Given the description of an element on the screen output the (x, y) to click on. 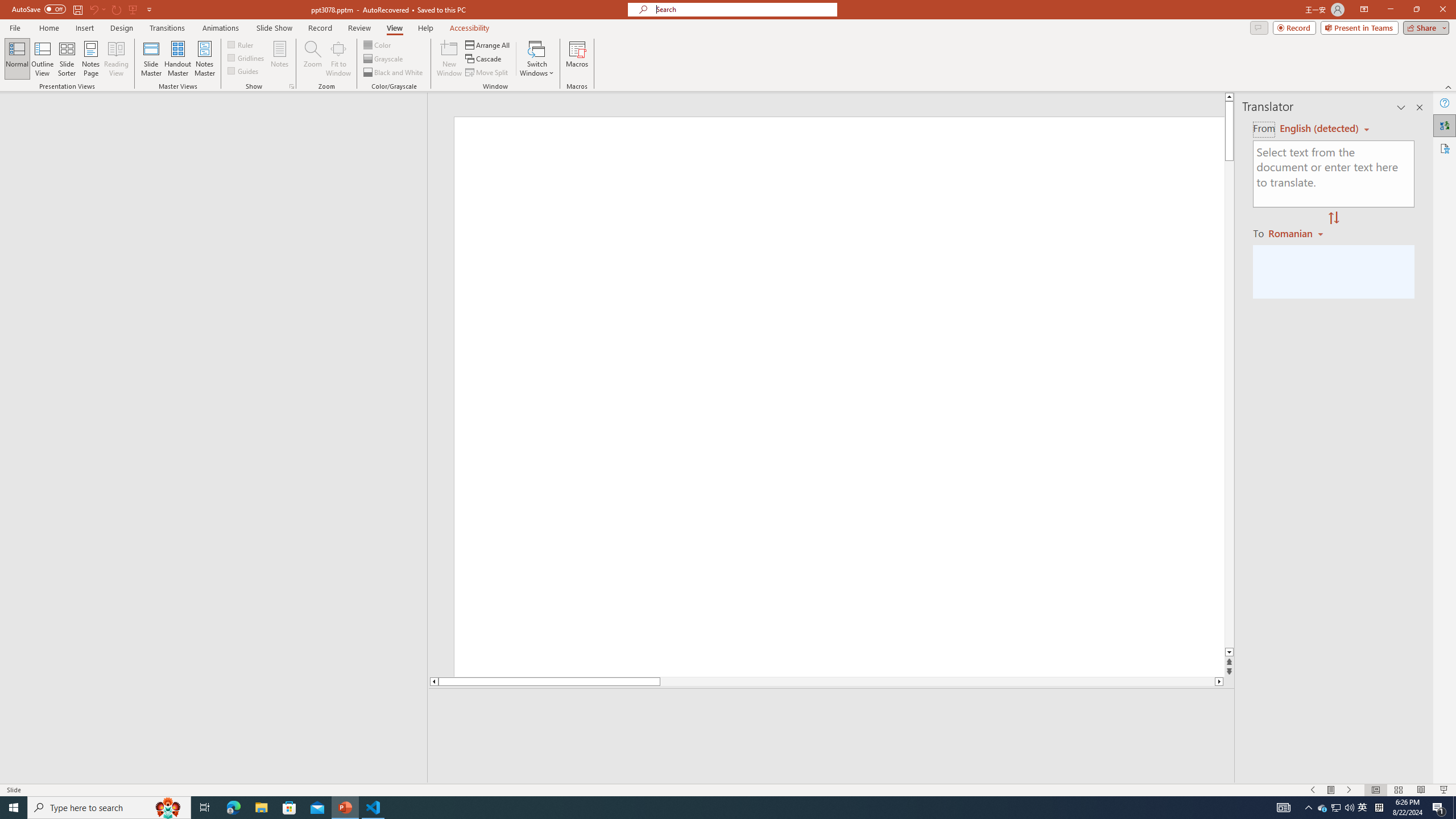
Black and White (393, 72)
Slide Show Next On (1349, 790)
Outline View (42, 58)
Fit to Window (338, 58)
Arrange All (488, 44)
